Given the description of an element on the screen output the (x, y) to click on. 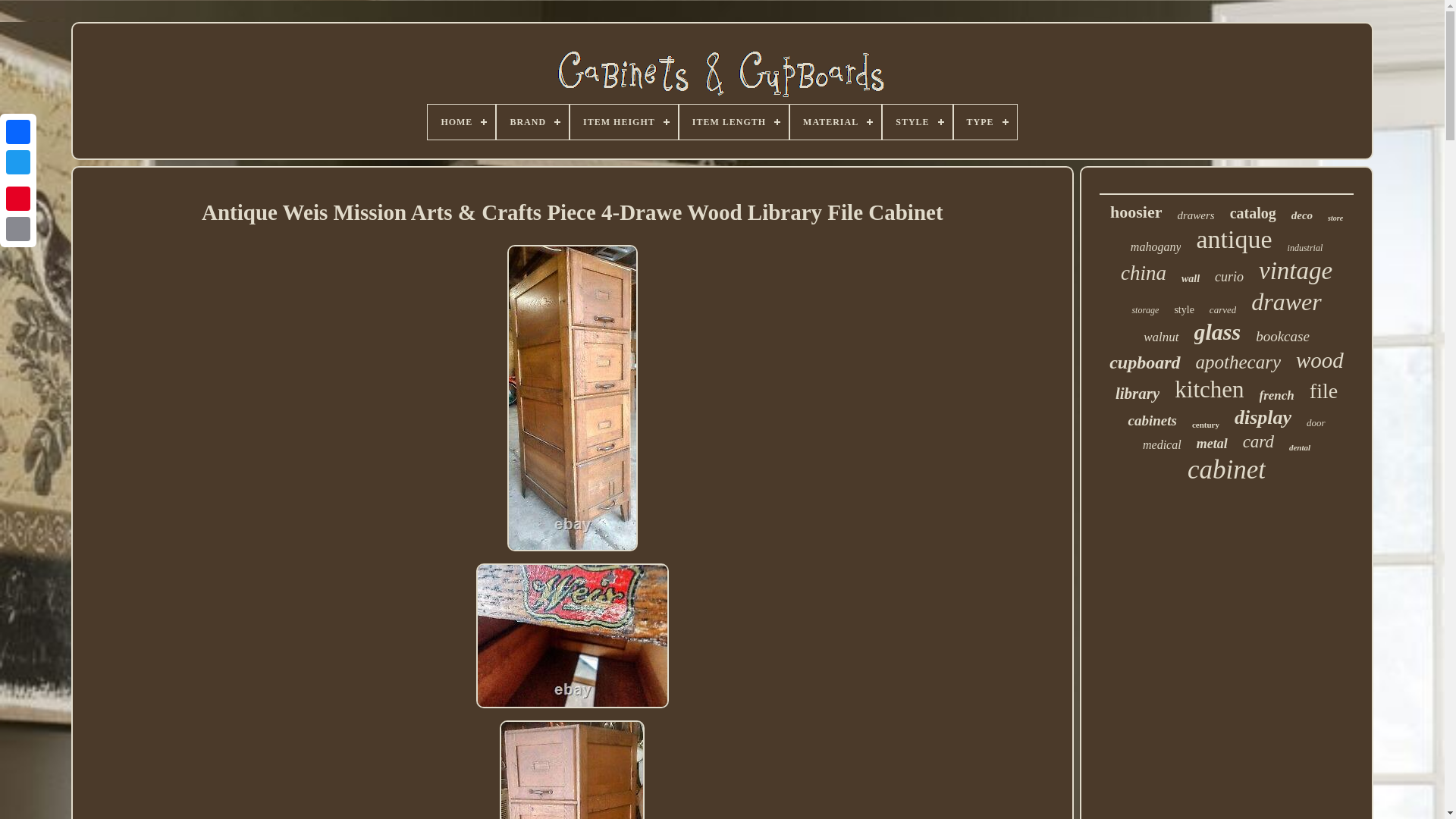
ITEM HEIGHT (624, 121)
BRAND (532, 121)
HOME (461, 121)
Twitter (17, 162)
